Given the description of an element on the screen output the (x, y) to click on. 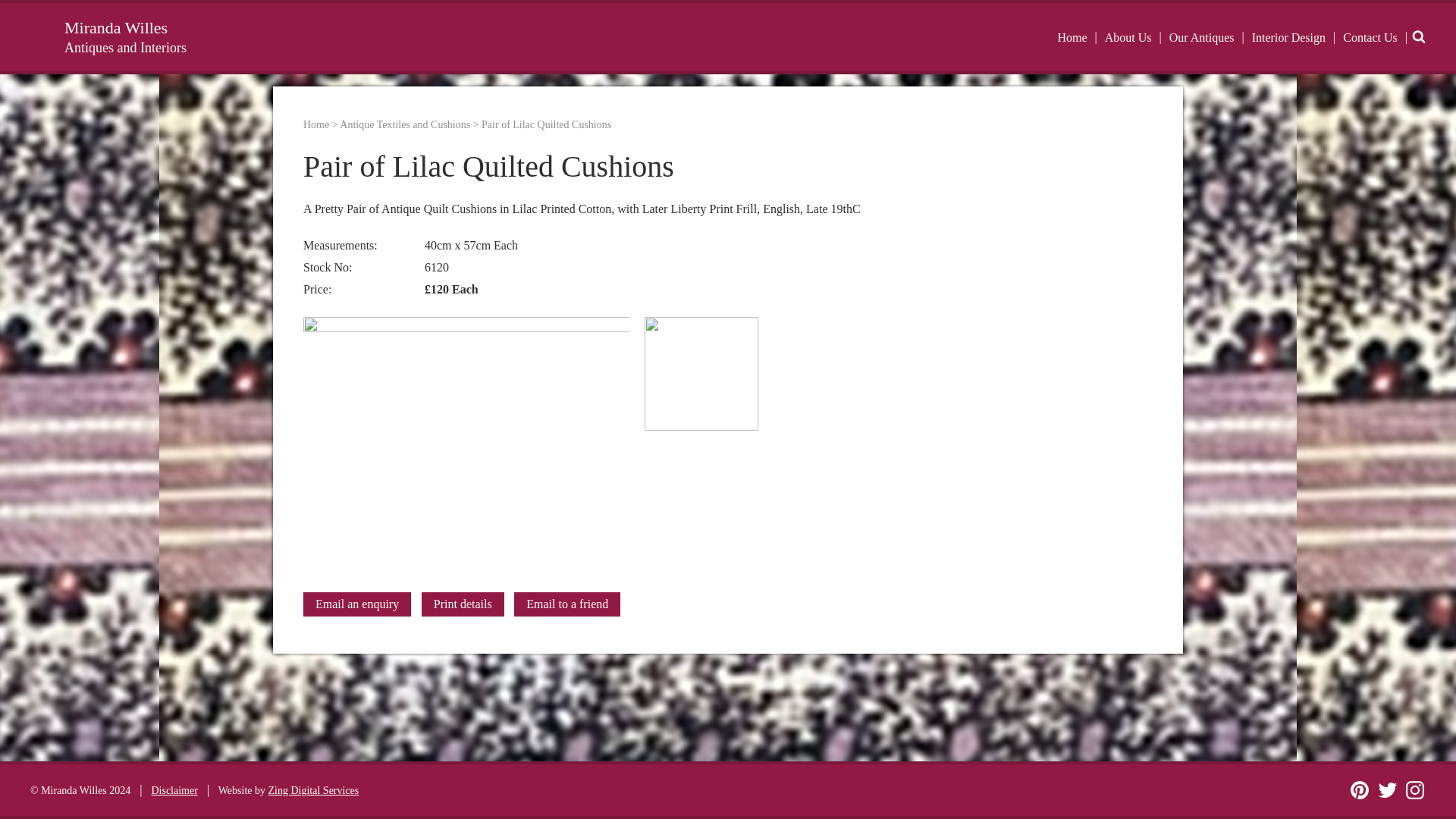
Print details (462, 603)
Our Antiques (1201, 37)
Email to a friend (566, 603)
Home (1071, 37)
Interior Design (1288, 37)
Instagram (1415, 789)
Home (315, 124)
Disclaimer (173, 790)
Contact Us (1369, 37)
About Us (1128, 37)
